Given the description of an element on the screen output the (x, y) to click on. 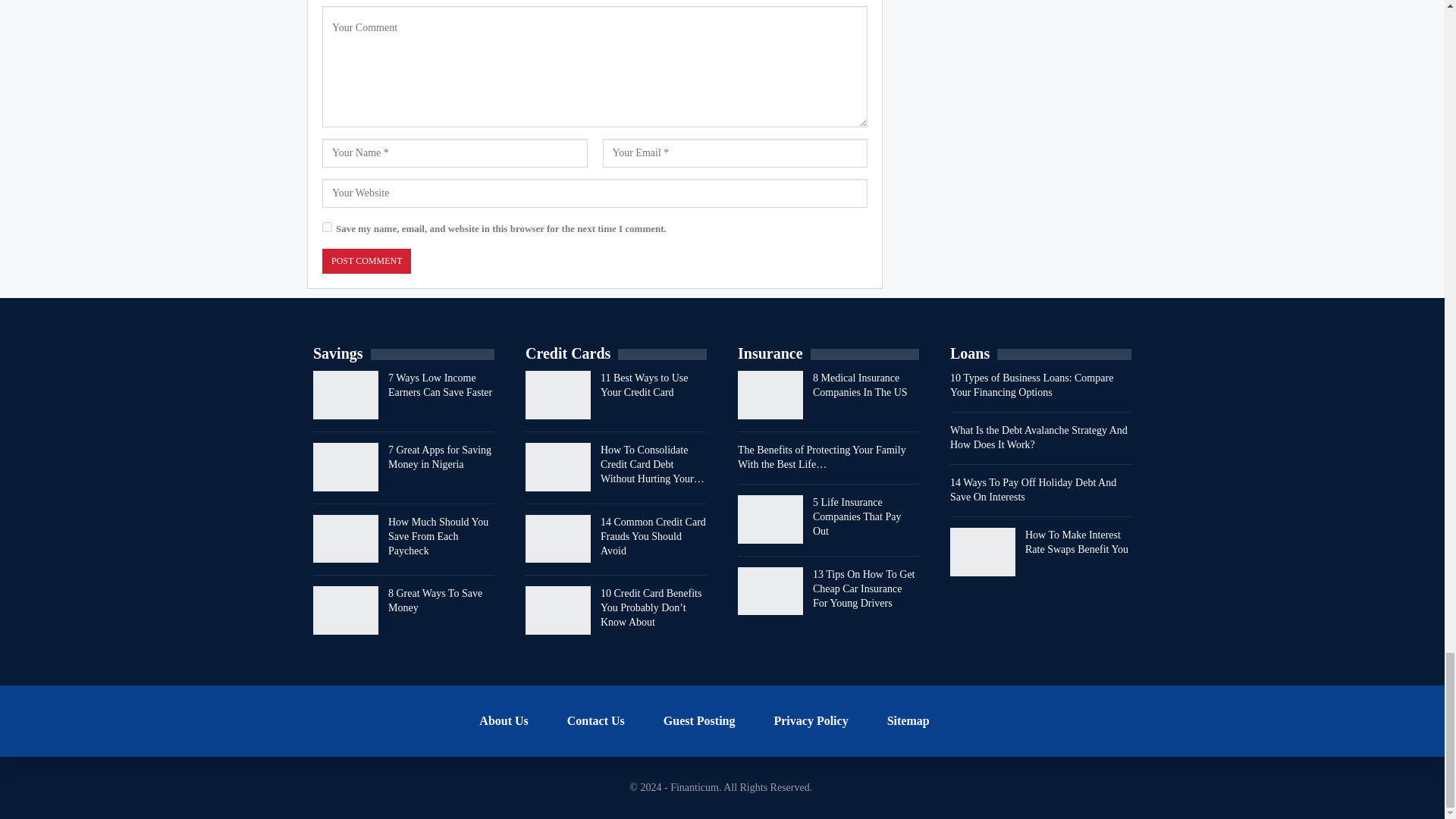
7 Ways Low Income Earners Can Save Faster (345, 395)
Post Comment (365, 260)
yes (326, 226)
